Given the description of an element on the screen output the (x, y) to click on. 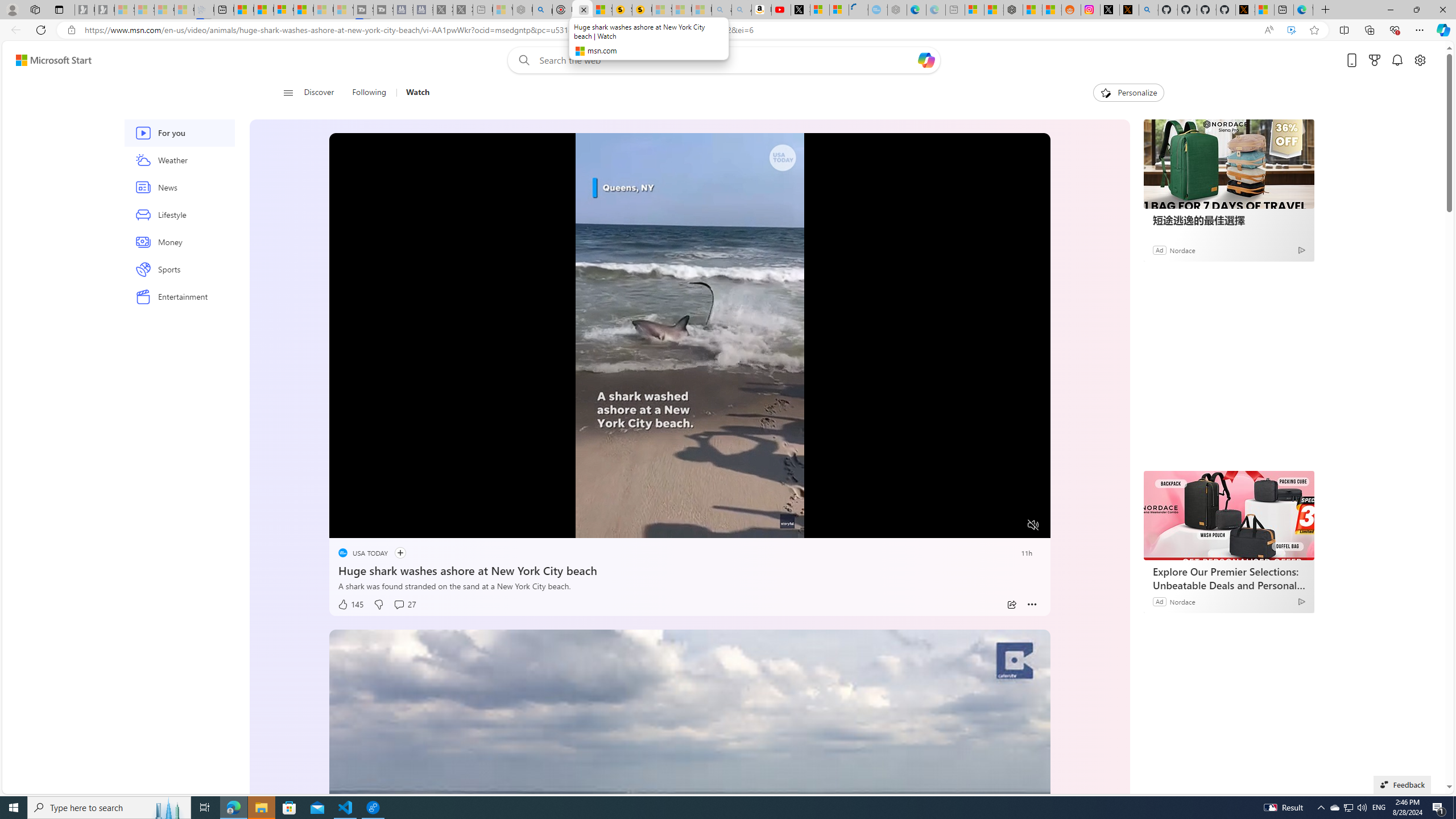
Class: button-glyph (287, 92)
Progress Bar (689, 510)
Log in to X / X (1109, 9)
Opinion: Op-Ed and Commentary - USA TODAY (858, 9)
Shanghai, China Weather trends | Microsoft Weather (1050, 9)
View comments 27 Comment (404, 604)
